Given the description of an element on the screen output the (x, y) to click on. 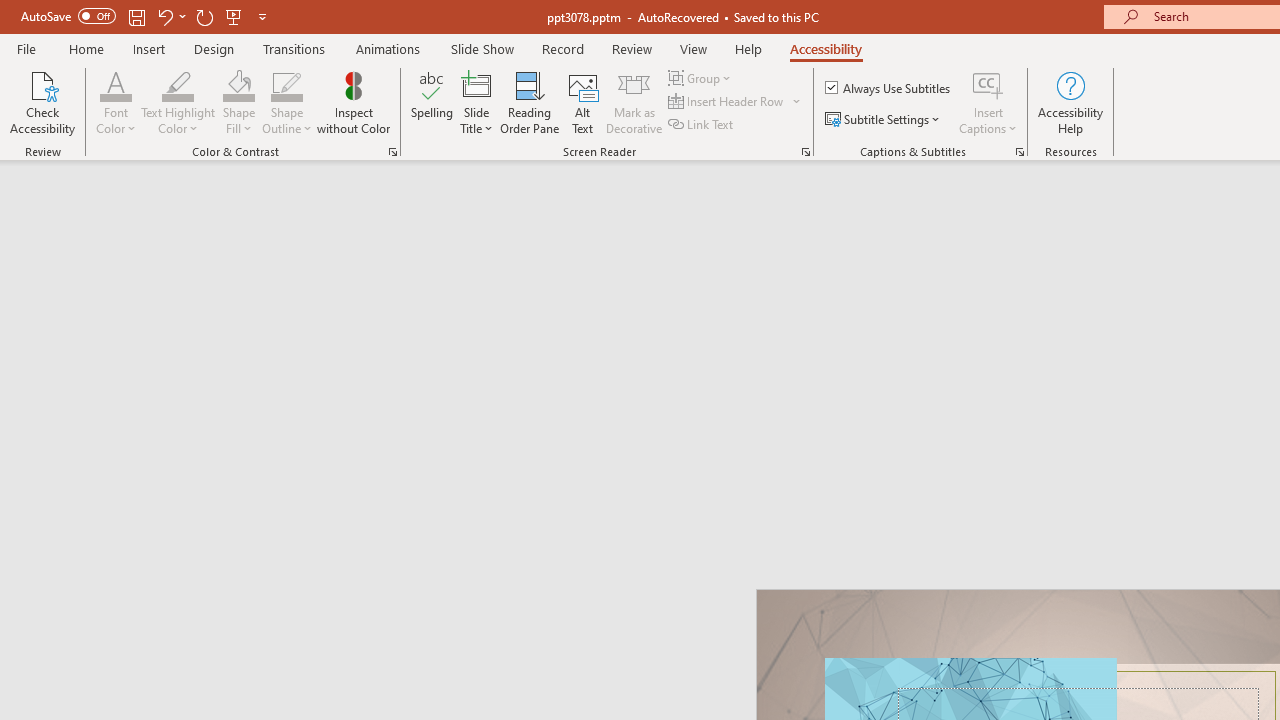
Subtitle Settings (884, 119)
